Given the description of an element on the screen output the (x, y) to click on. 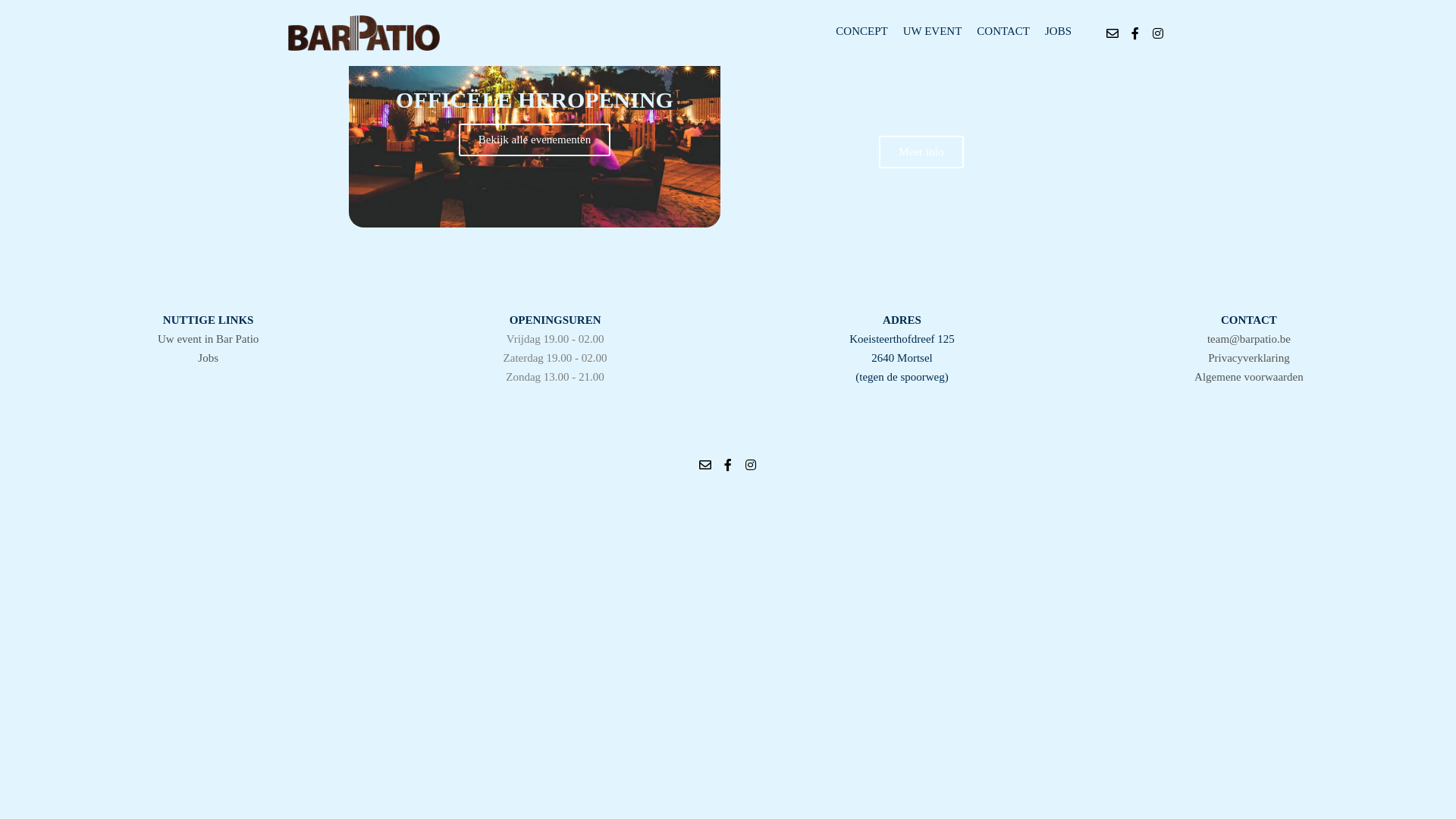
Facebook Element type: hover (1135, 33)
E-mail Element type: hover (1112, 33)
Algemene voorwaarden Element type: text (1248, 376)
Instagram Element type: hover (750, 464)
team@barpatio.be Element type: text (1248, 338)
Jobs Element type: text (207, 357)
CONCEPT Element type: text (861, 31)
Uw event in Bar Patio Element type: text (207, 338)
Privacyverklaring Element type: text (1248, 357)
JOBS Element type: text (1058, 31)
CONTACT Element type: text (1003, 31)
E-mail Element type: hover (705, 464)
Instagram Element type: hover (1157, 33)
Facebook Element type: hover (727, 464)
UW EVENT
IN BAR PATIO
Meer info Element type: text (921, 121)
UW EVENT Element type: text (932, 31)
